Given the description of an element on the screen output the (x, y) to click on. 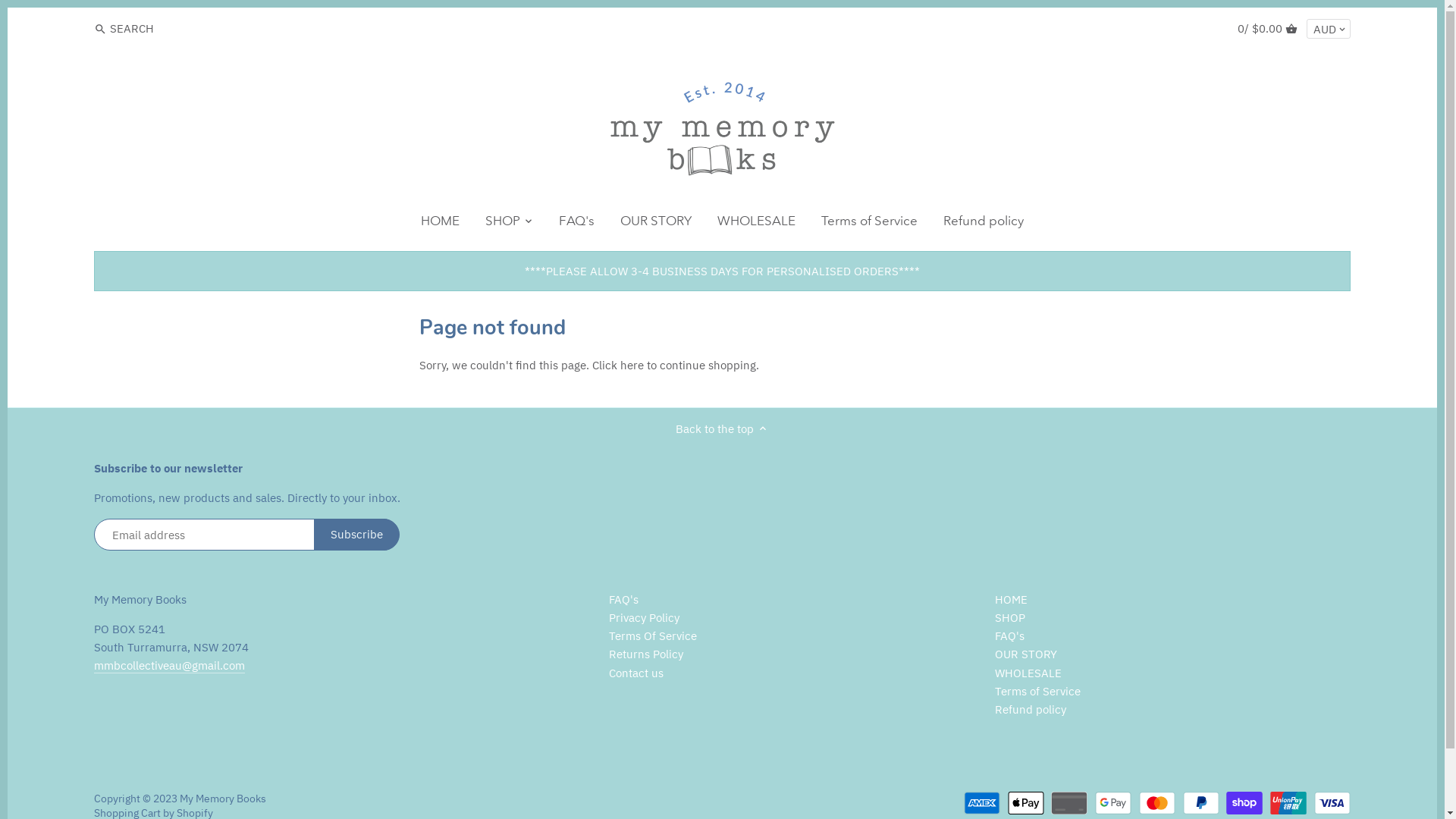
Contact us Element type: text (635, 672)
HOME Element type: text (1010, 599)
0/ $0.00 CART Element type: text (1267, 28)
FAQ's Element type: text (623, 599)
SHOP Element type: text (1009, 617)
Search Element type: text (100, 29)
mmbcollectiveau@gmail.com Element type: text (169, 665)
WHOLESALE Element type: text (756, 223)
Terms of Service Element type: text (1037, 691)
Terms Of Service Element type: text (652, 635)
Back to the top Element type: text (721, 428)
FAQ's Element type: text (576, 223)
HOME Element type: text (439, 223)
Subscribe Element type: text (356, 534)
Refund policy Element type: text (983, 223)
Privacy Policy Element type: text (643, 617)
FAQ's Element type: text (1009, 635)
My Memory Books Element type: text (222, 798)
Returns Policy Element type: text (645, 654)
SHOP Element type: text (502, 223)
OUR STORY Element type: text (655, 223)
WHOLESALE Element type: text (1027, 672)
Refund policy Element type: text (1030, 709)
OUR STORY Element type: text (1025, 654)
Terms of Service Element type: text (869, 223)
Click here Element type: text (617, 364)
